Given the description of an element on the screen output the (x, y) to click on. 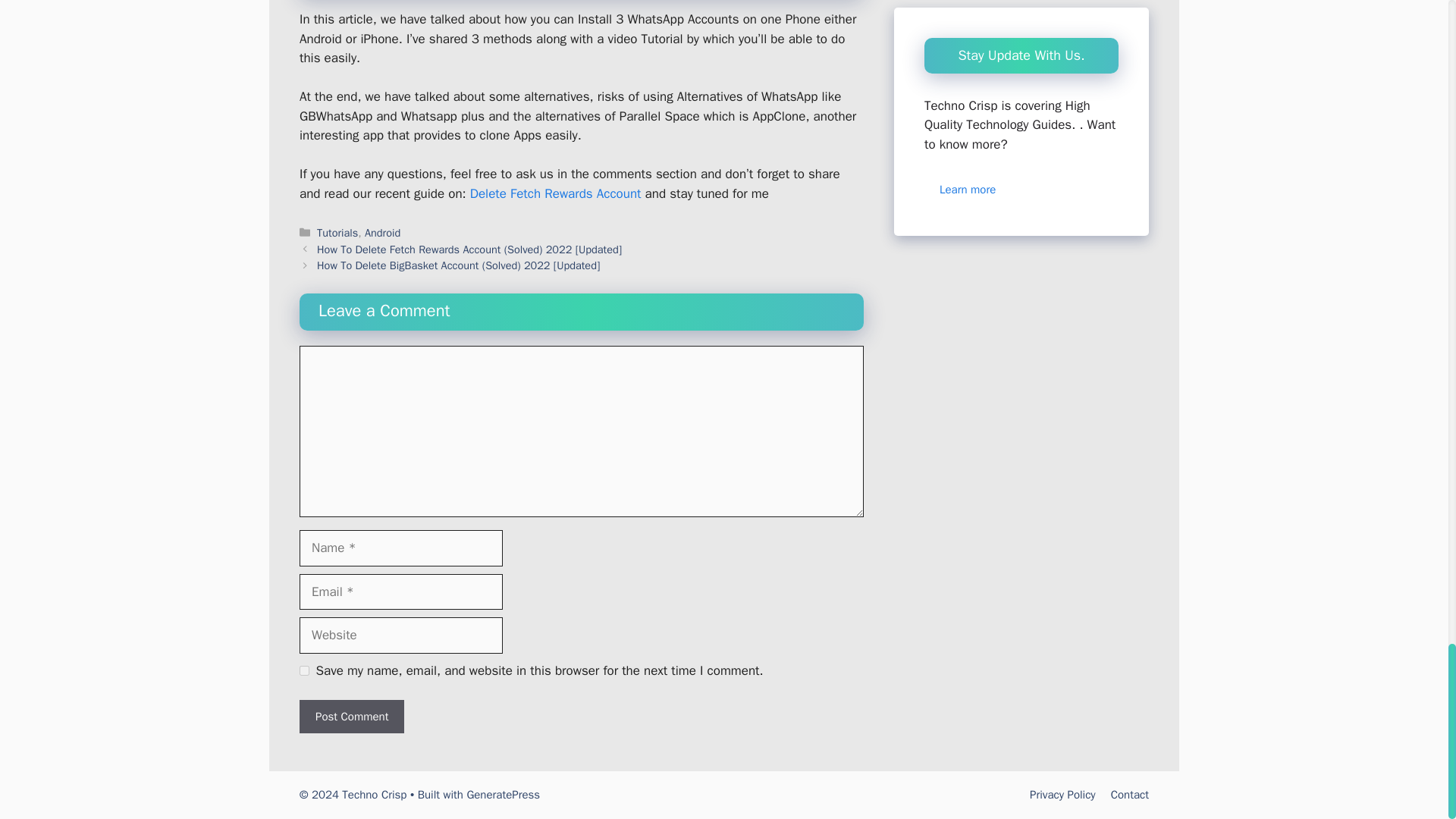
yes (303, 670)
Android (382, 232)
Delete Fetch Rewards Account (556, 193)
Tutorials (337, 232)
Post Comment (351, 716)
